Given the description of an element on the screen output the (x, y) to click on. 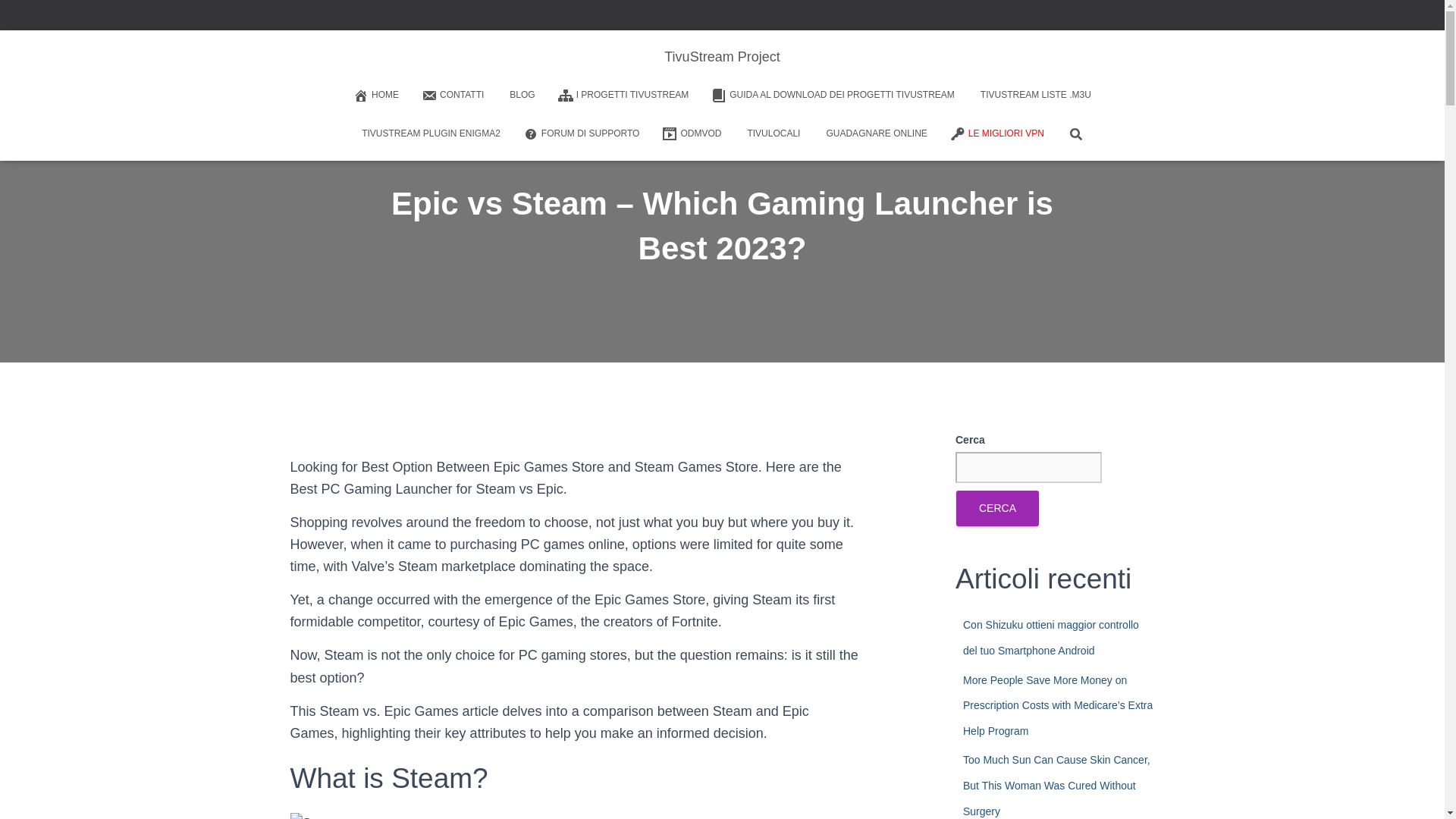
Contatti (452, 94)
Cerca (16, 16)
TivuStream Project (721, 56)
CERCA (997, 508)
TivuStream Project (721, 56)
HOME (376, 94)
GUADAGNARE ONLINE (873, 133)
BLOG (520, 95)
Blog (520, 95)
HOME (376, 94)
TivuStream liste .m3u (1034, 95)
TivuStream Plugin Enigma2 (429, 133)
Guadagnare Online (873, 133)
FORUM DI SUPPORTO (581, 133)
CONTATTI (452, 94)
